Given the description of an element on the screen output the (x, y) to click on. 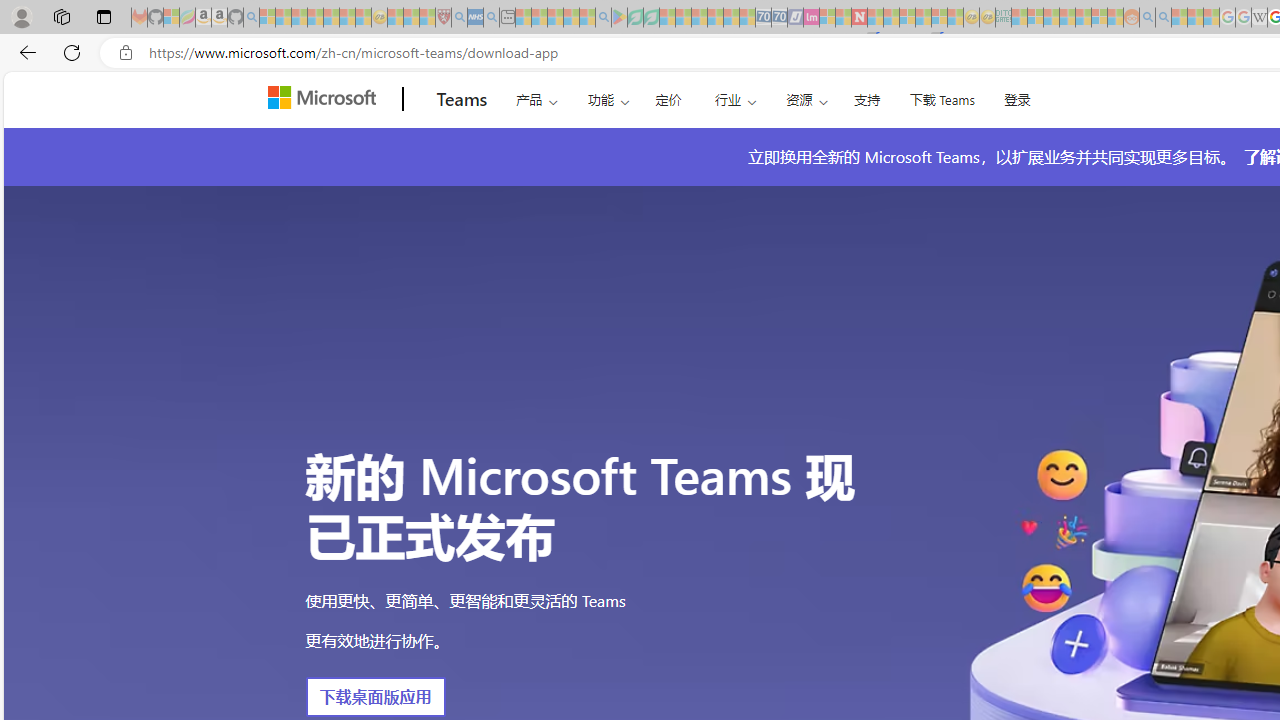
utah sues federal government - Search - Sleeping (491, 17)
